Given the description of an element on the screen output the (x, y) to click on. 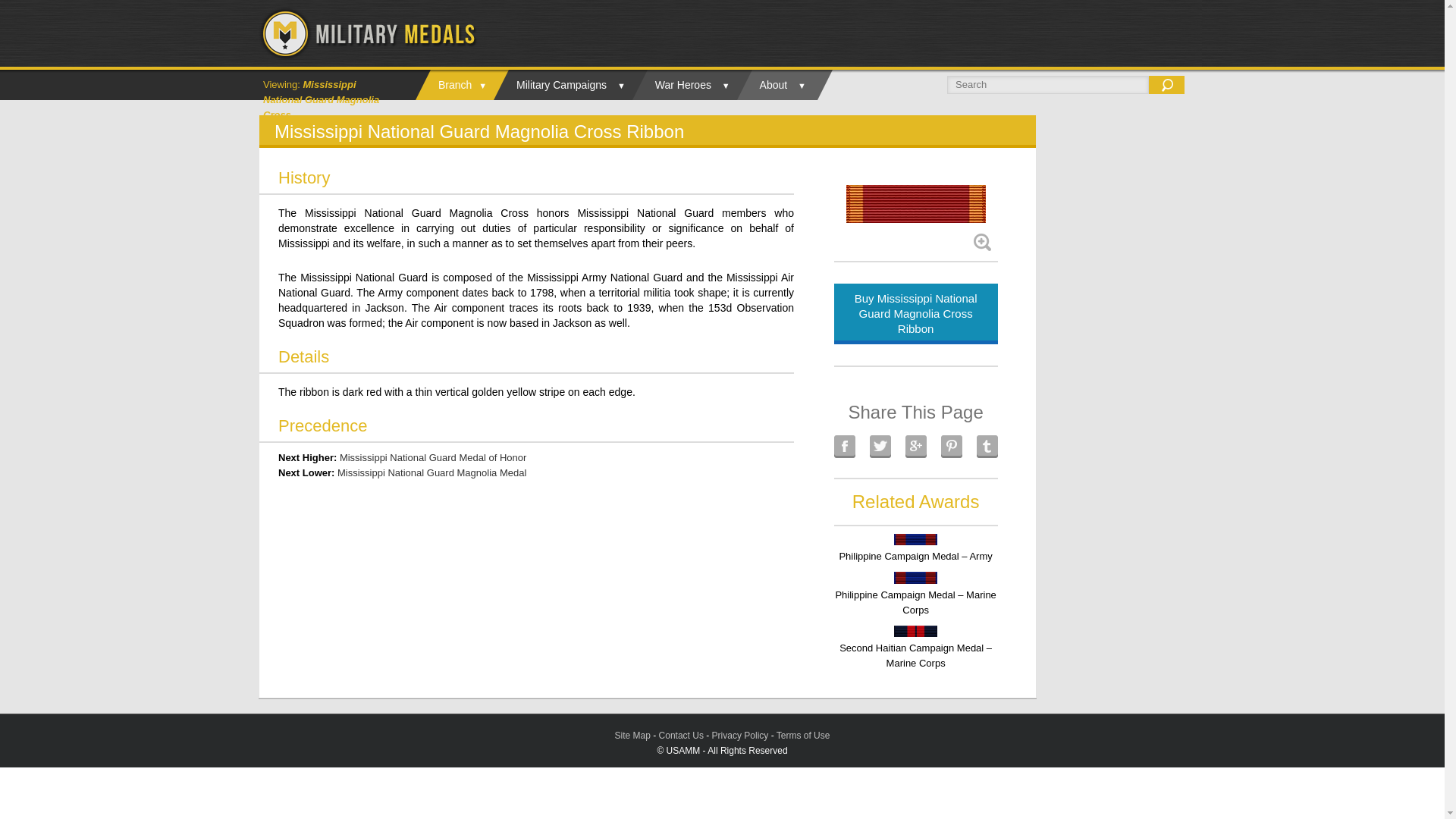
Military Campaigns (561, 84)
War Heroes (683, 84)
Branch (454, 84)
